Given the description of an element on the screen output the (x, y) to click on. 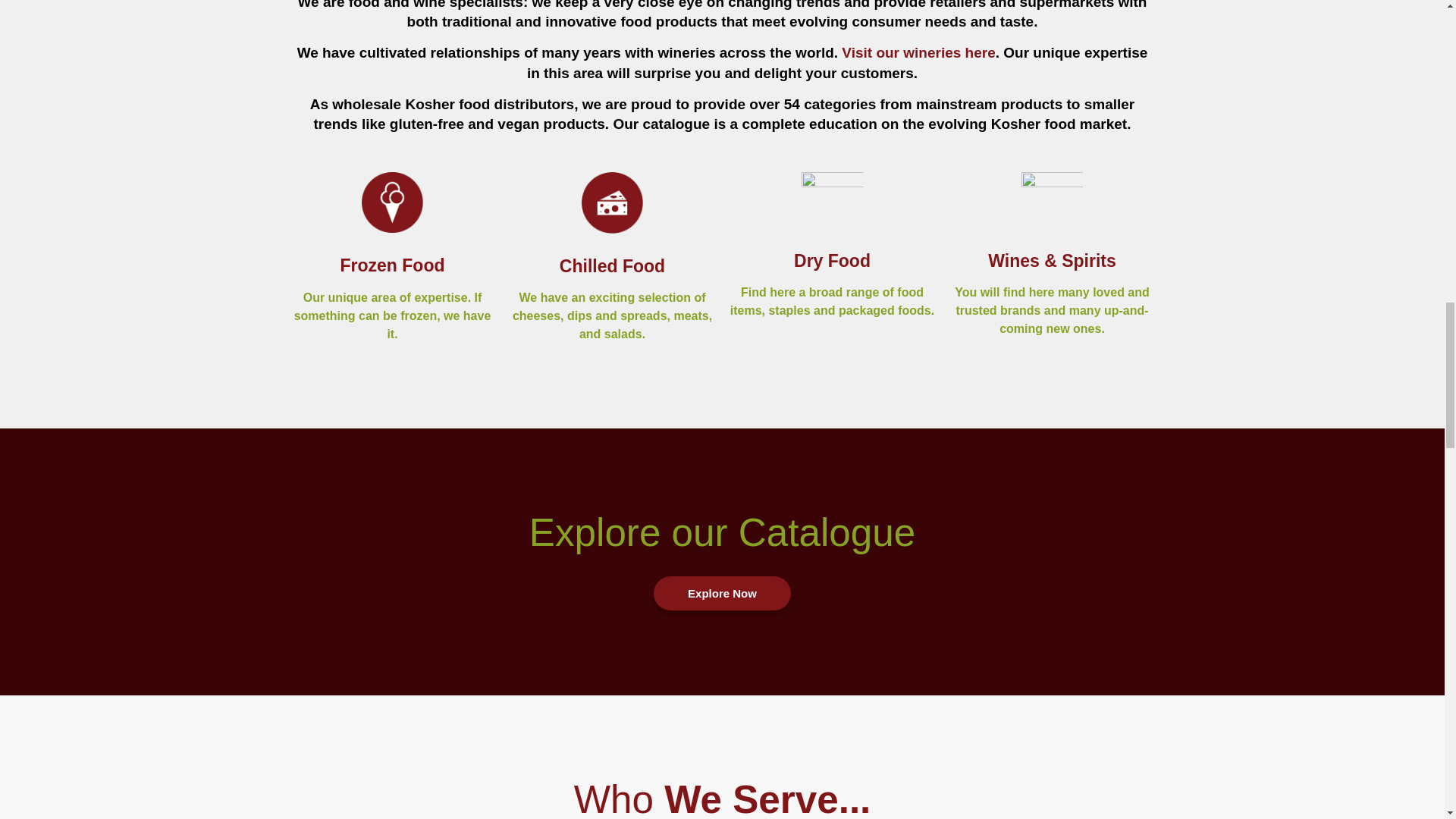
Explore Now (721, 593)
Visit our wineries here (917, 52)
